Given the description of an element on the screen output the (x, y) to click on. 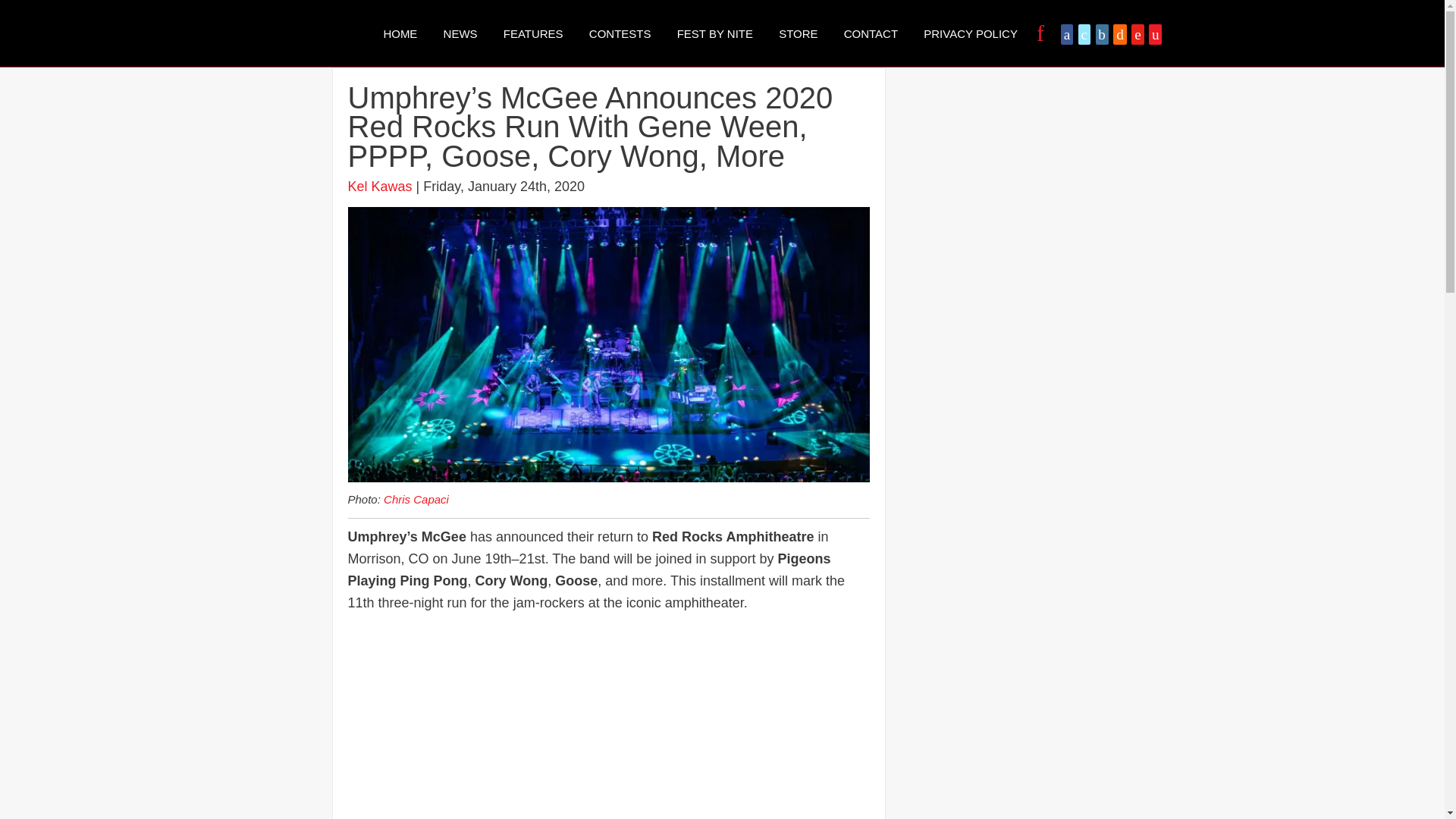
L4LM (308, 32)
Chris Capaci (416, 499)
CONTACT (870, 33)
Kel Kawas (379, 186)
FEST BY NITE (714, 33)
PRIVACY POLICY (970, 33)
NEWS (460, 33)
STORE (797, 33)
HOME (399, 33)
CONTESTS (620, 33)
